Given the description of an element on the screen output the (x, y) to click on. 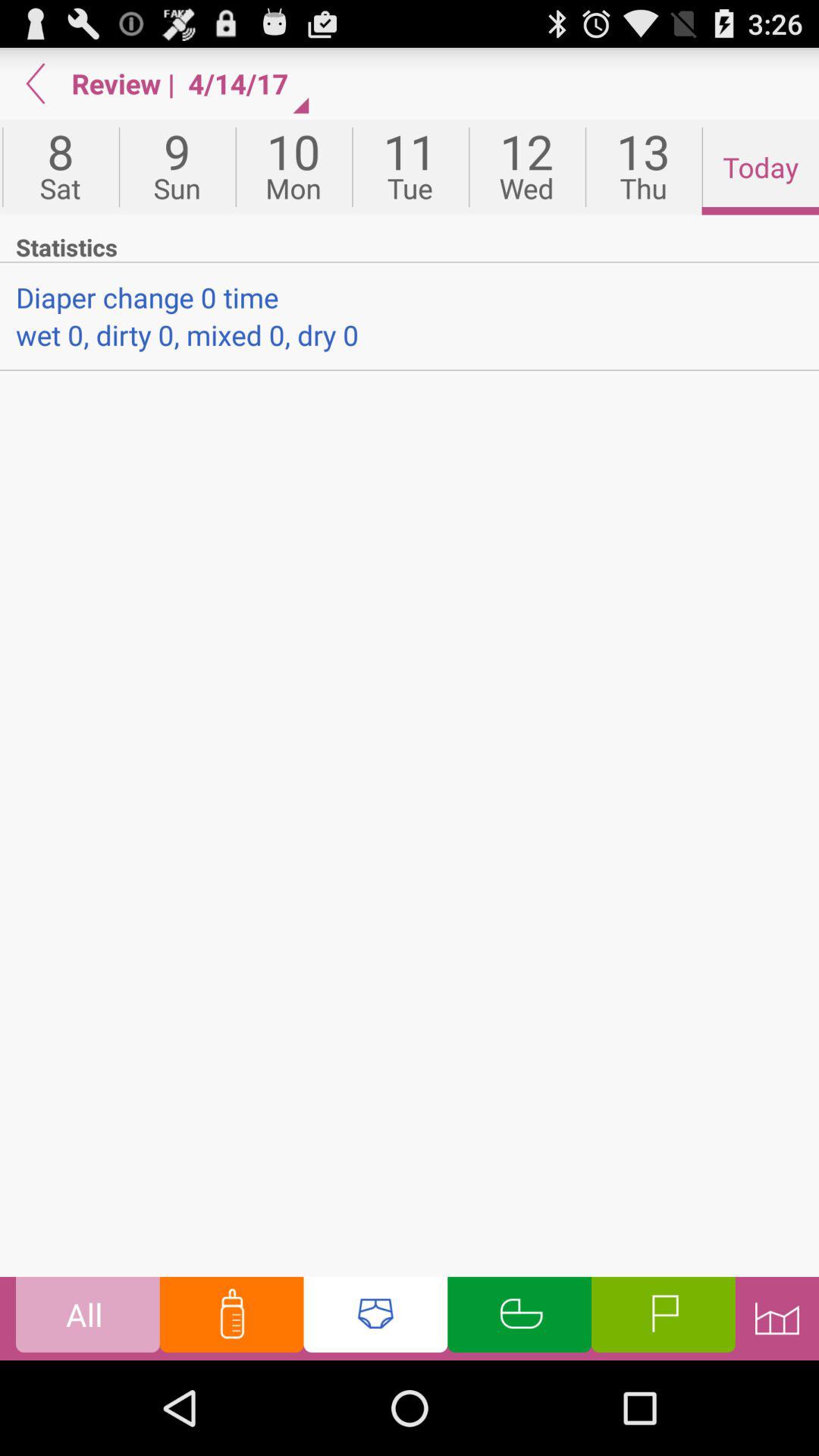
tap the icon to the right of the 11 item (526, 166)
